Given the description of an element on the screen output the (x, y) to click on. 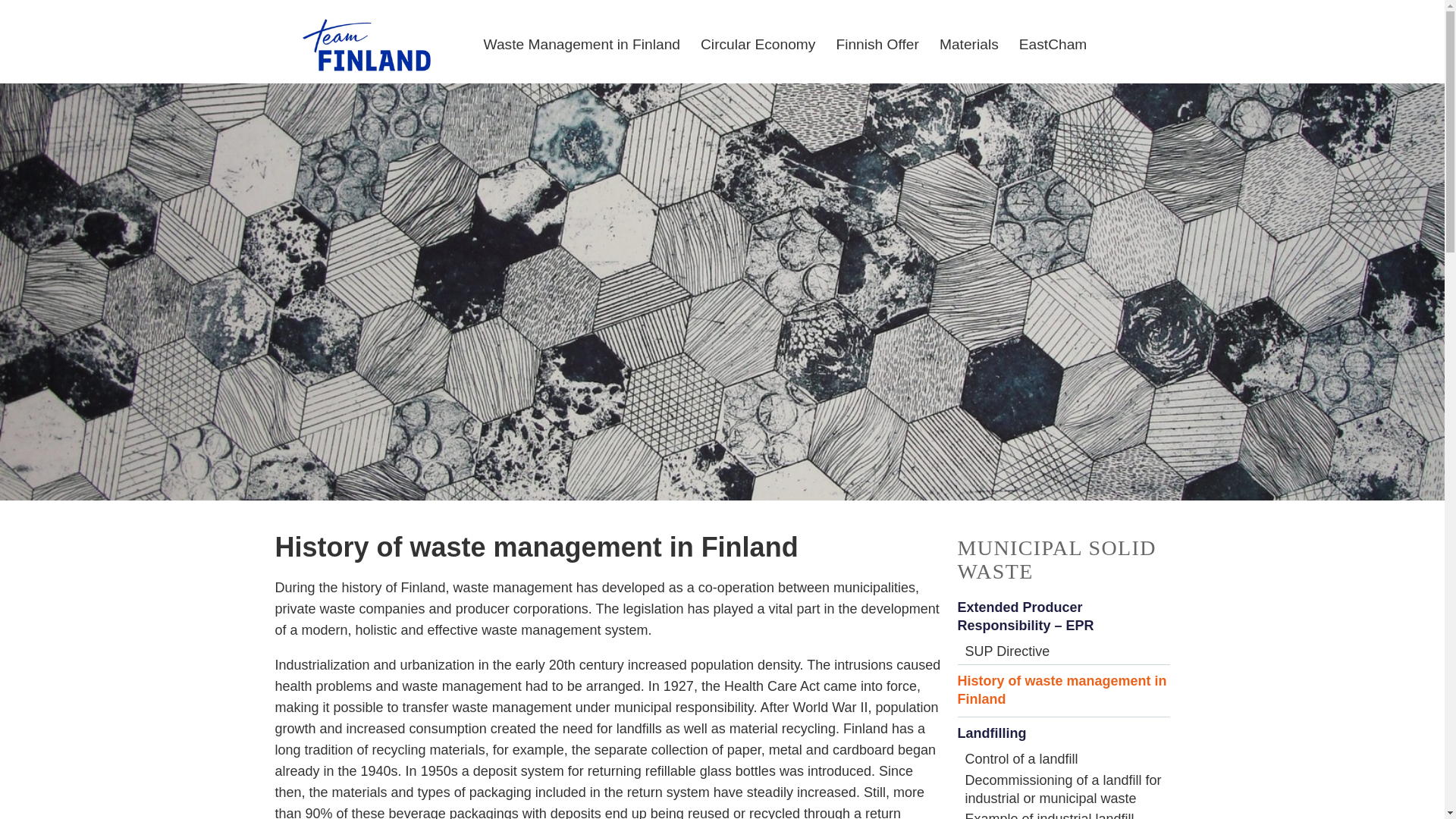
Circular Economy (751, 37)
Finnish Offer (870, 37)
Waste Management in Finland (575, 37)
Materials (962, 37)
